Given the description of an element on the screen output the (x, y) to click on. 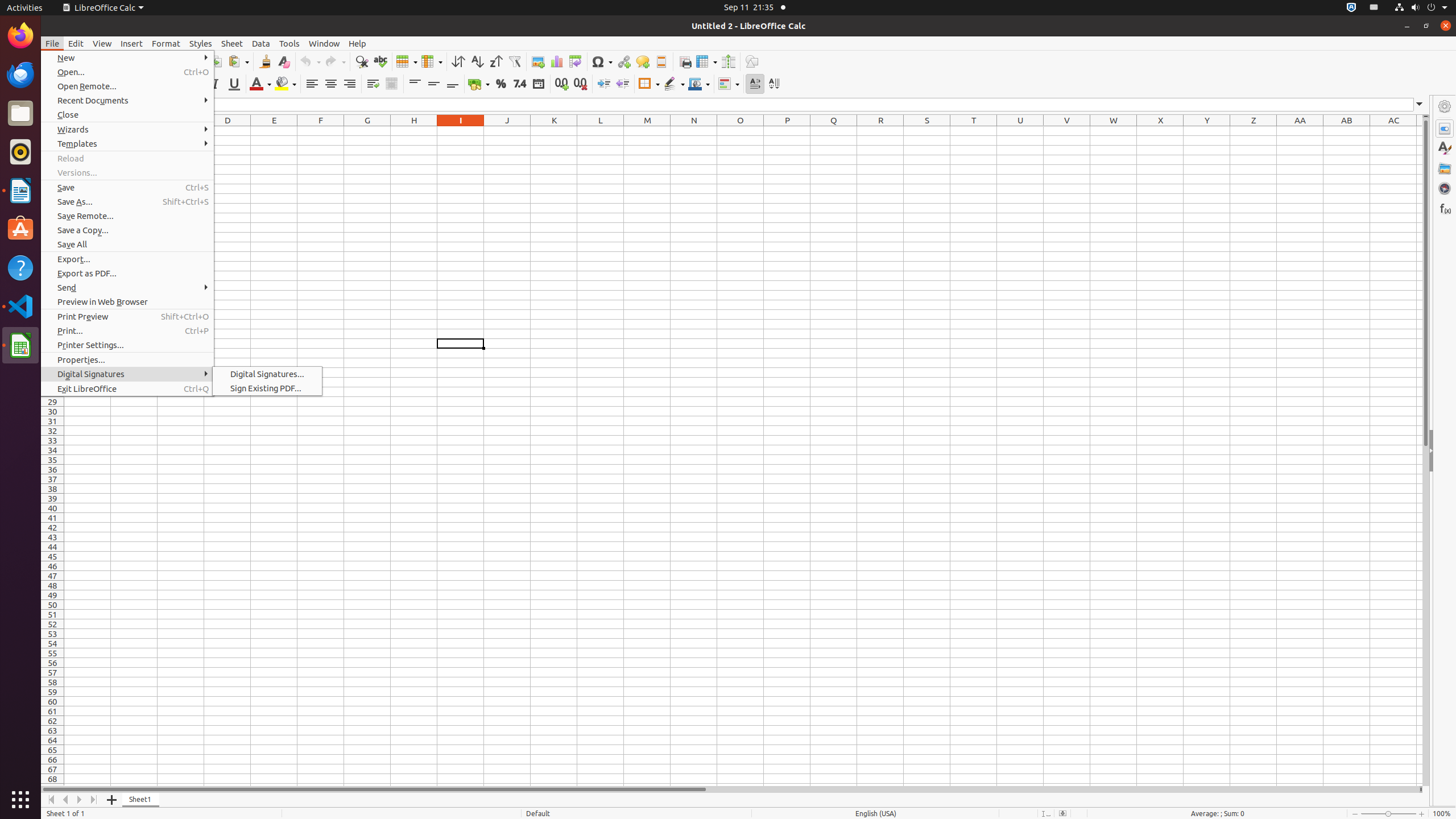
Send Element type: menu (126, 287)
AD1 Element type: table-cell (1419, 130)
Close Element type: menu-item (126, 114)
Split Window Element type: push-button (727, 61)
